Given the description of an element on the screen output the (x, y) to click on. 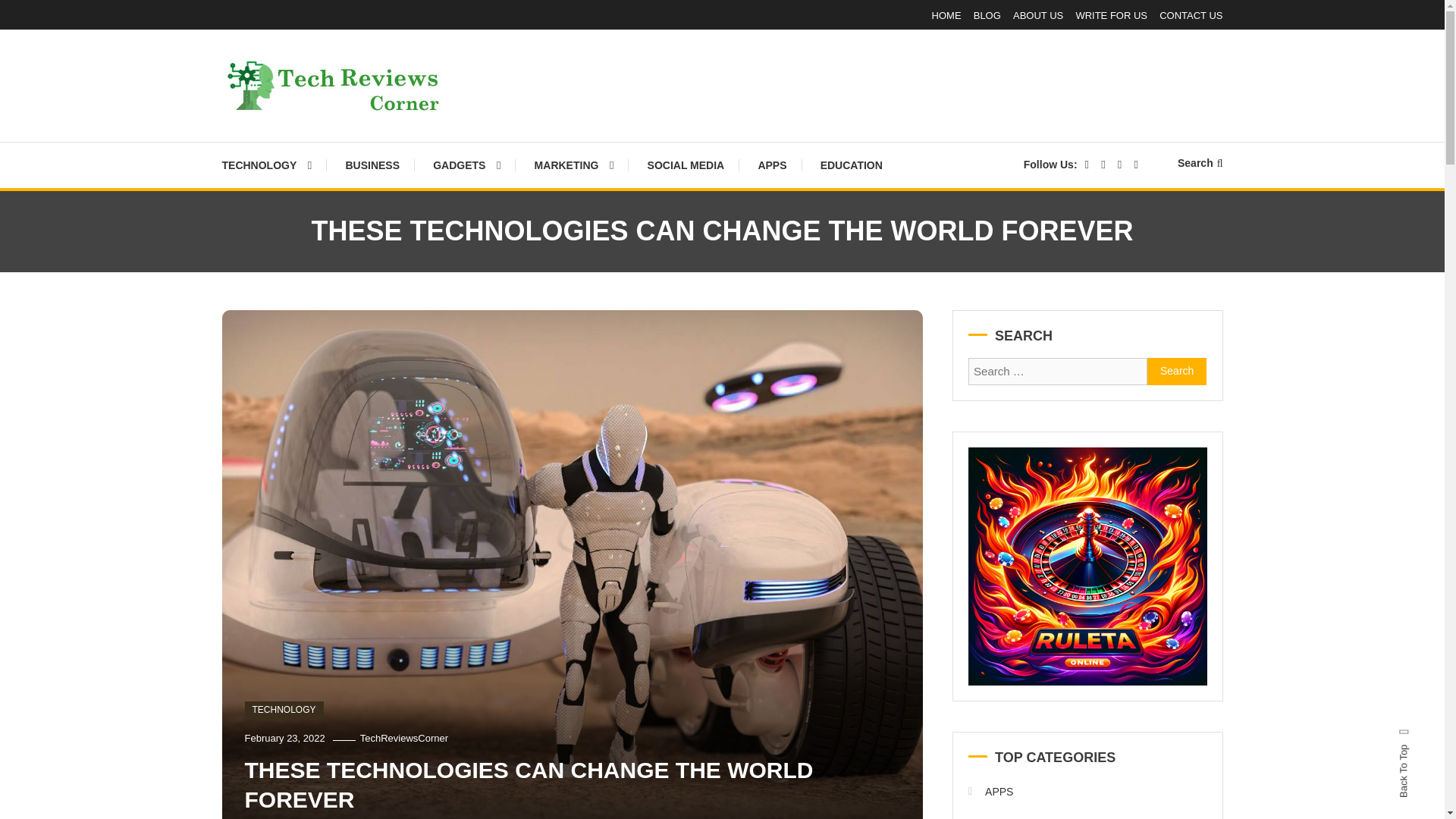
TechReviewsCorner (403, 737)
HOME (945, 15)
BLOG (987, 15)
TECHNOLOGY (283, 710)
MARKETING (573, 165)
GADGETS (466, 165)
Search (1177, 370)
SOCIAL MEDIA (685, 165)
Search (768, 432)
WRITE FOR US (1111, 15)
